Given the description of an element on the screen output the (x, y) to click on. 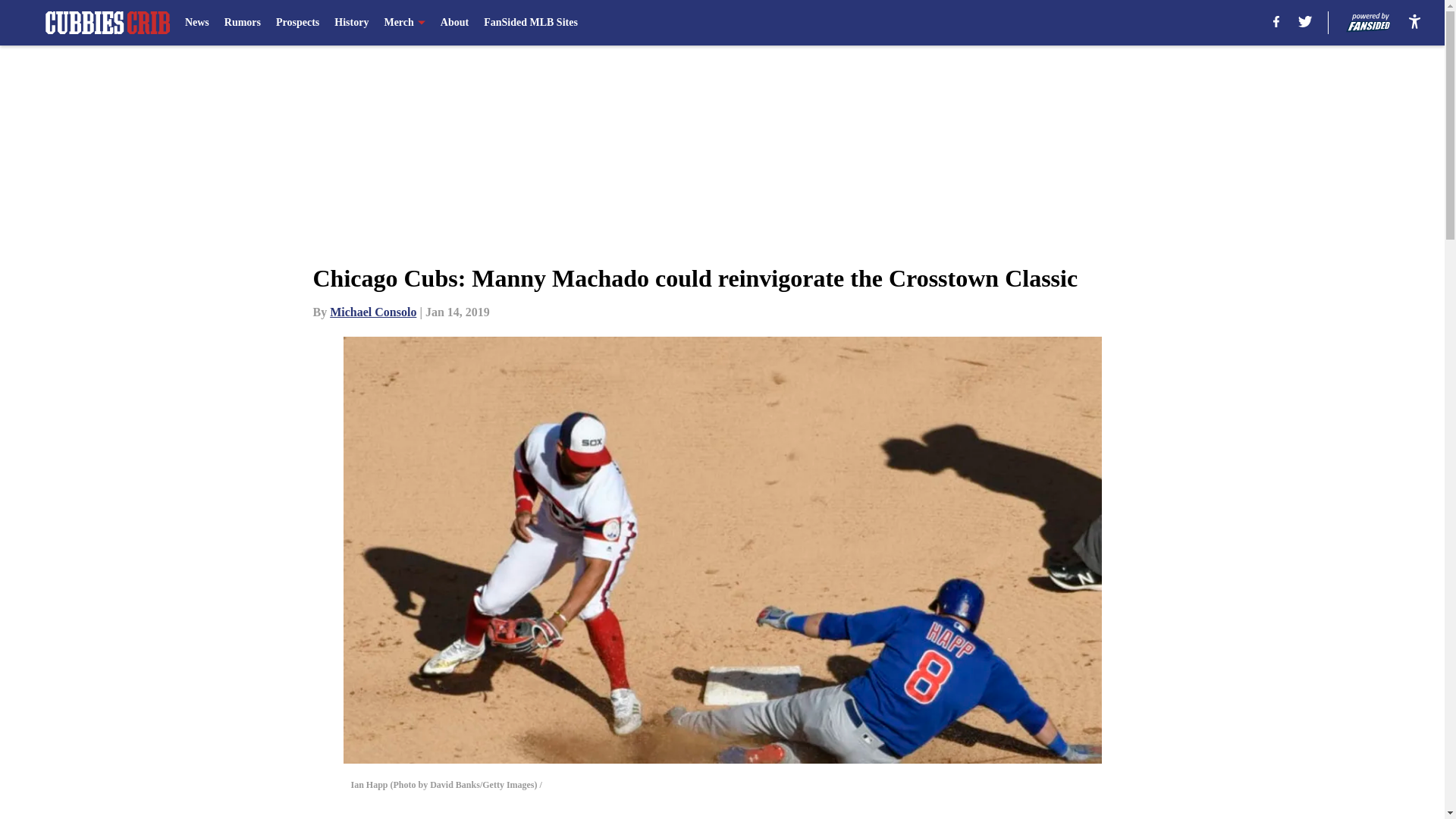
FanSided MLB Sites (530, 22)
News (196, 22)
History (351, 22)
Michael Consolo (373, 311)
About (454, 22)
Rumors (242, 22)
Prospects (297, 22)
